Given the description of an element on the screen output the (x, y) to click on. 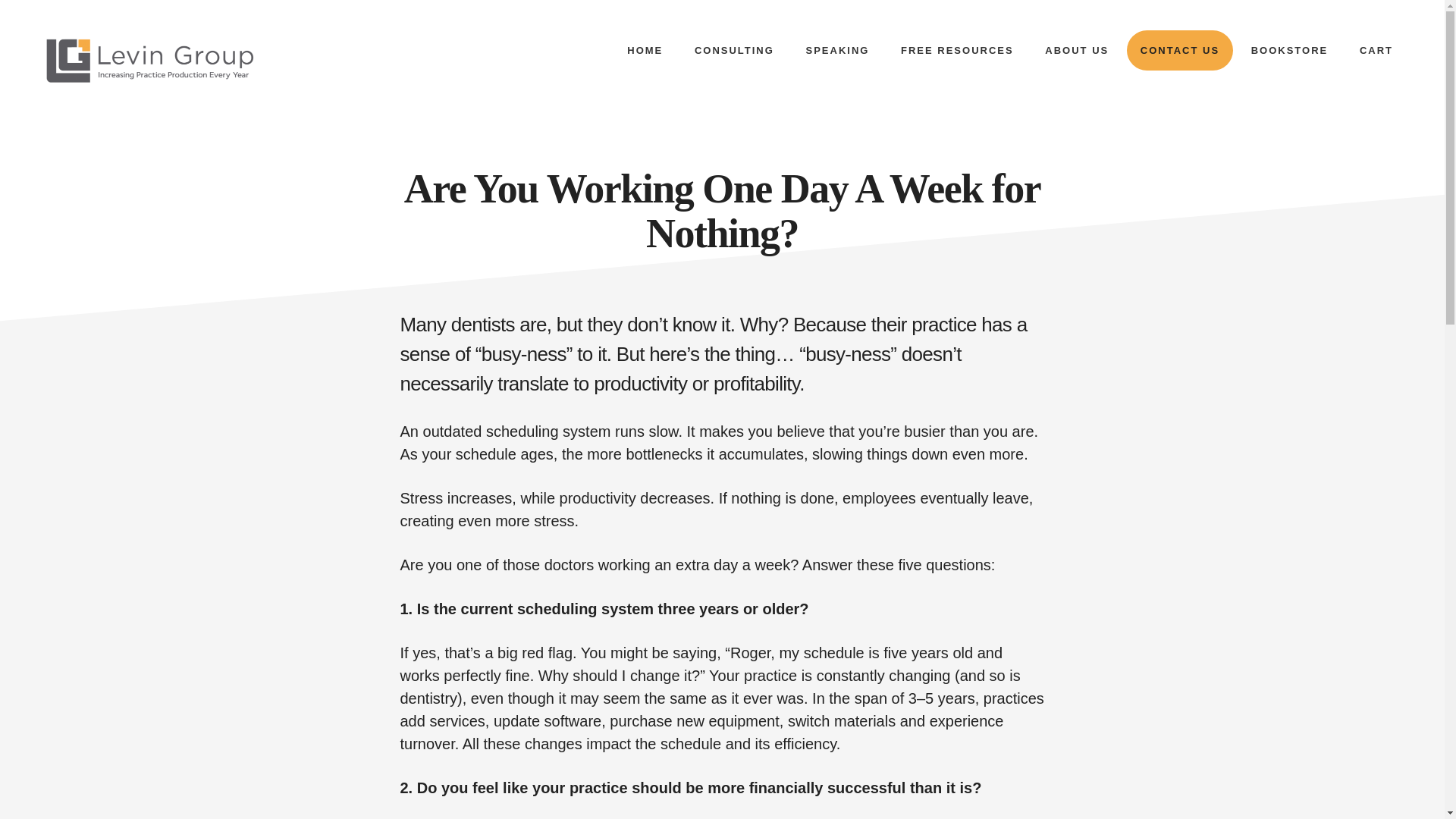
CONTACT US (1179, 50)
FREE RESOURCES (956, 50)
ABOUT US (1076, 50)
LEVIN GROUP INC. (150, 60)
SPEAKING (837, 50)
BOOKSTORE (1289, 50)
CART (1375, 50)
CONSULTING (734, 50)
HOME (644, 50)
